Given the description of an element on the screen output the (x, y) to click on. 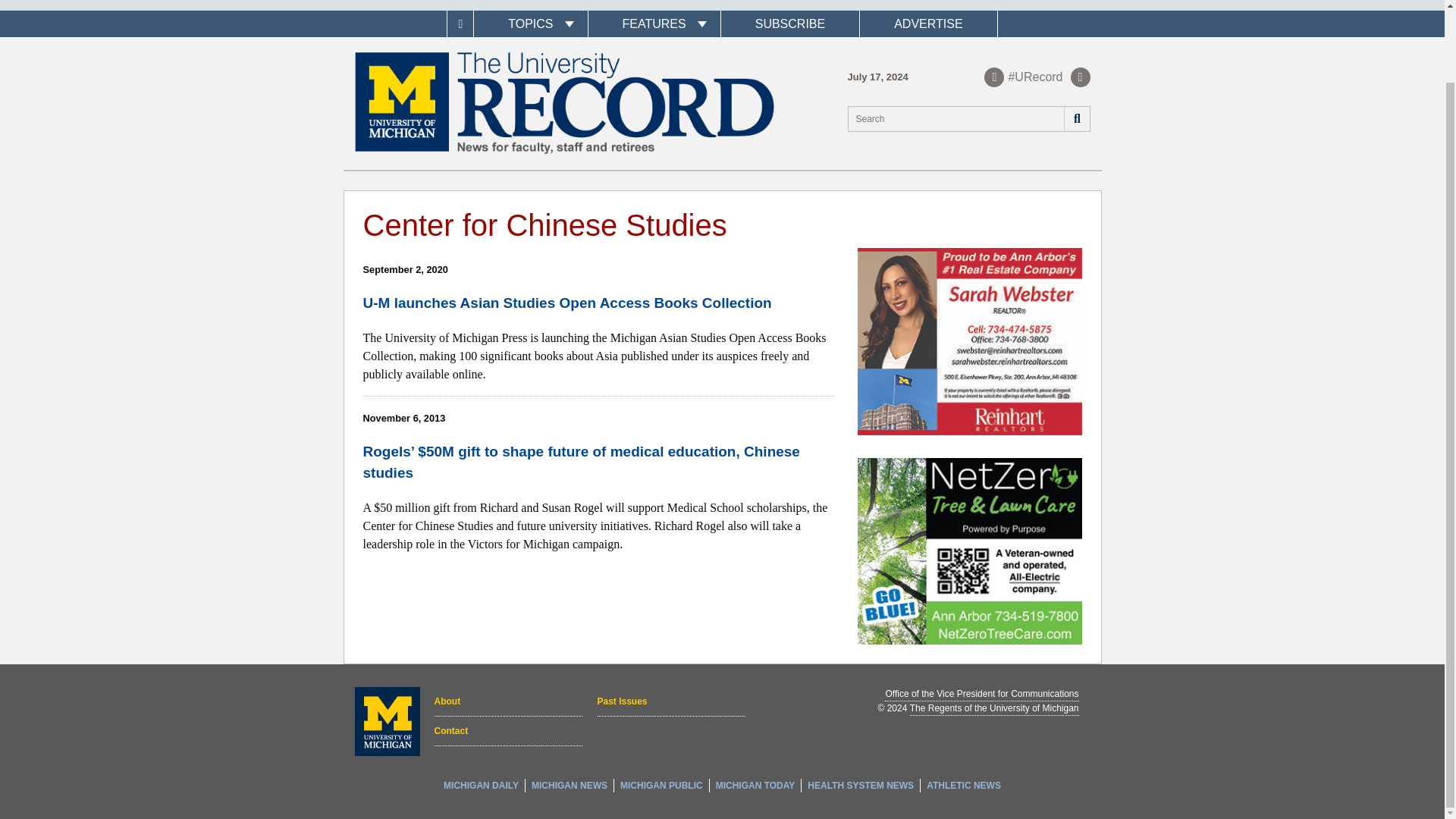
Search for: (968, 118)
FEATURES (654, 23)
Search (1075, 118)
U-M launches Asian Studies Open Access Books Collection (566, 302)
RSS (1080, 76)
RSS Feed (1080, 76)
HOME (459, 23)
The University Record (564, 103)
TOPICS (530, 23)
ADVERTISE (927, 23)
SUBSCRIBE (789, 23)
